Given the description of an element on the screen output the (x, y) to click on. 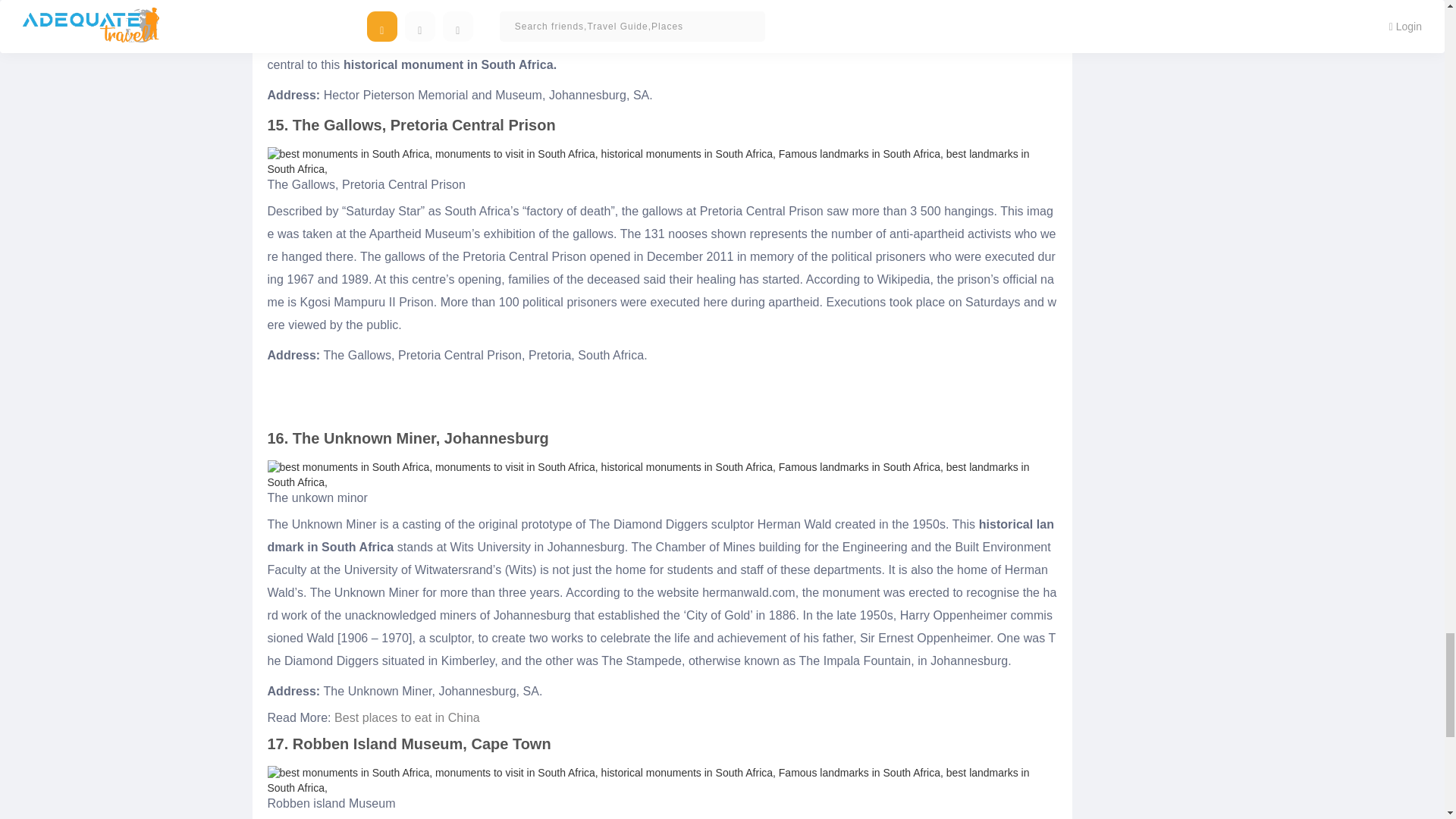
Best places to eat in China (407, 717)
